Given the description of an element on the screen output the (x, y) to click on. 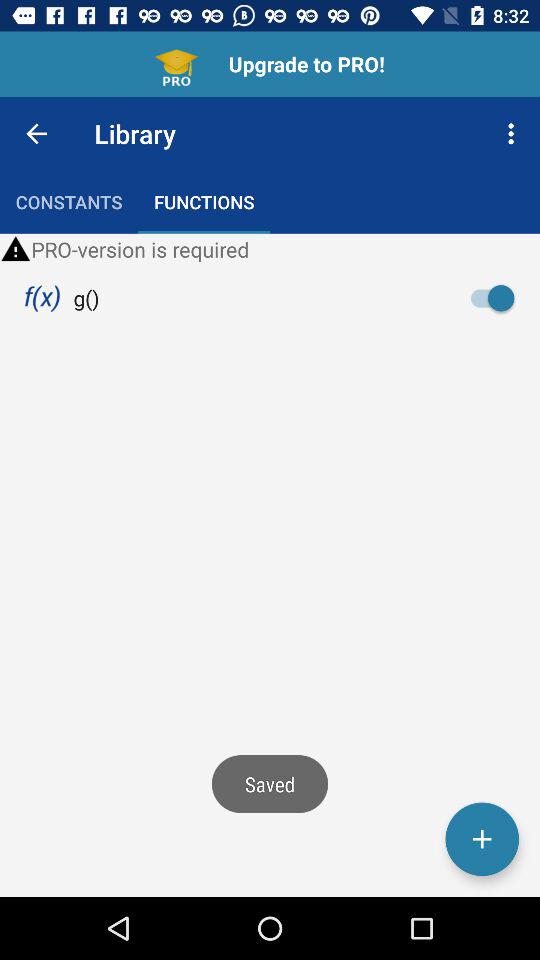
tap item below the pro version is icon (86, 297)
